Given the description of an element on the screen output the (x, y) to click on. 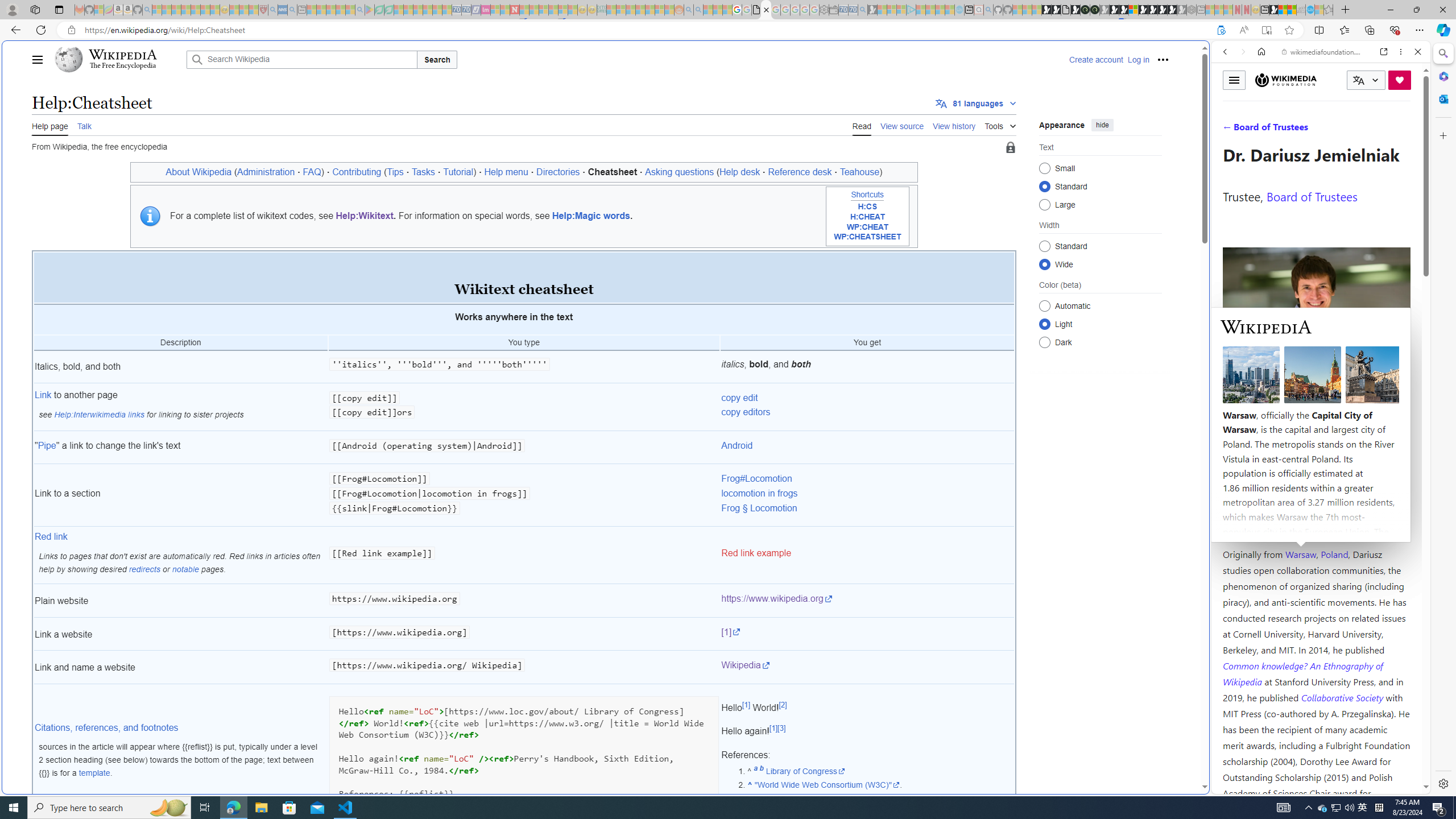
Read (861, 124)
View source (902, 124)
Wide (1044, 263)
''italics'', '''bold''', and '''''both''''' (523, 366)
Help page (50, 124)
About Wikipedia (198, 172)
[https://www.wikipedia.org/ Wikipedia] (523, 667)
